Given the description of an element on the screen output the (x, y) to click on. 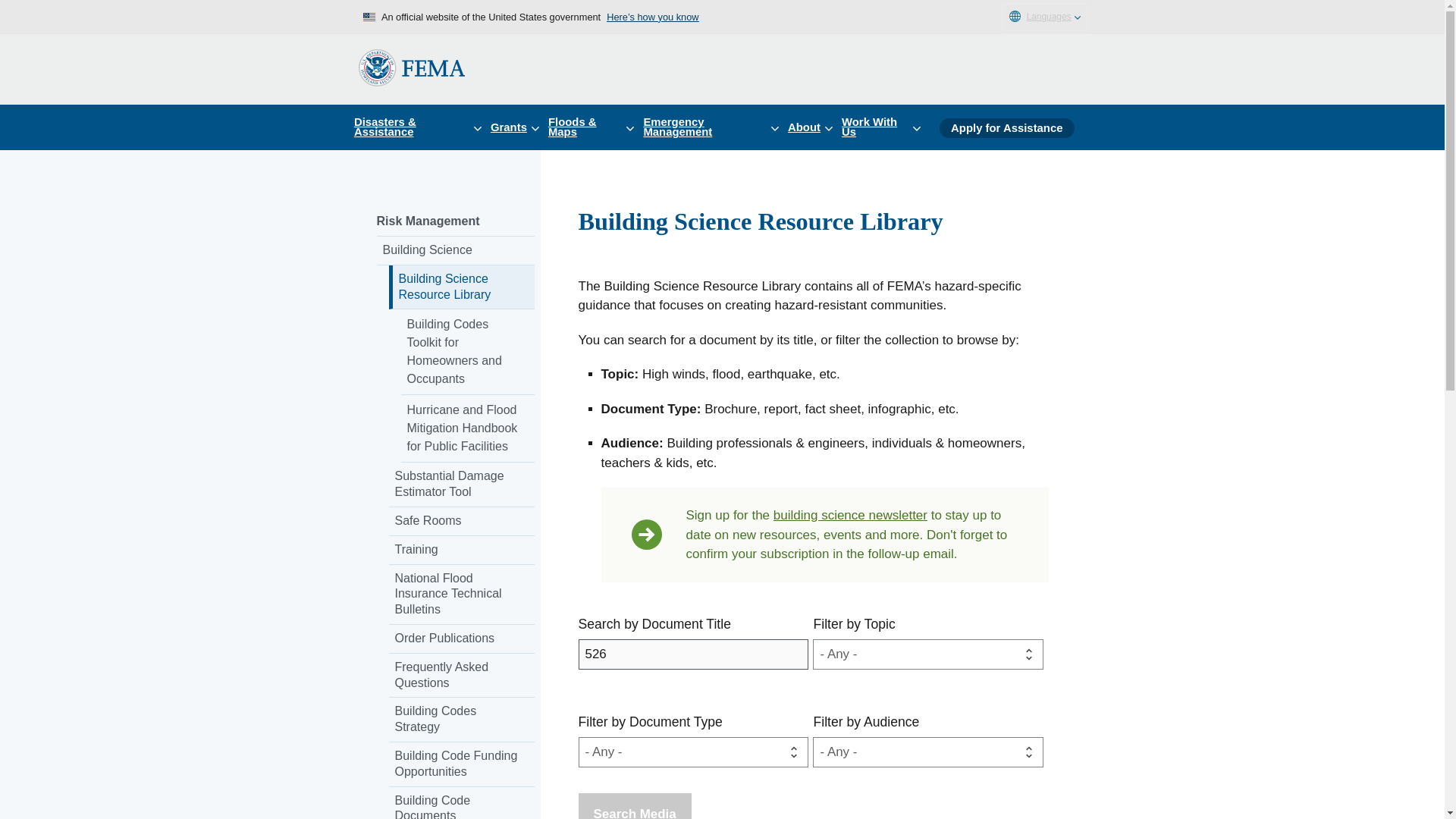
Search Media (634, 806)
FEMA logo (411, 67)
Languages (1044, 16)
526 (693, 654)
Skip to main content (16, 16)
